Given the description of an element on the screen output the (x, y) to click on. 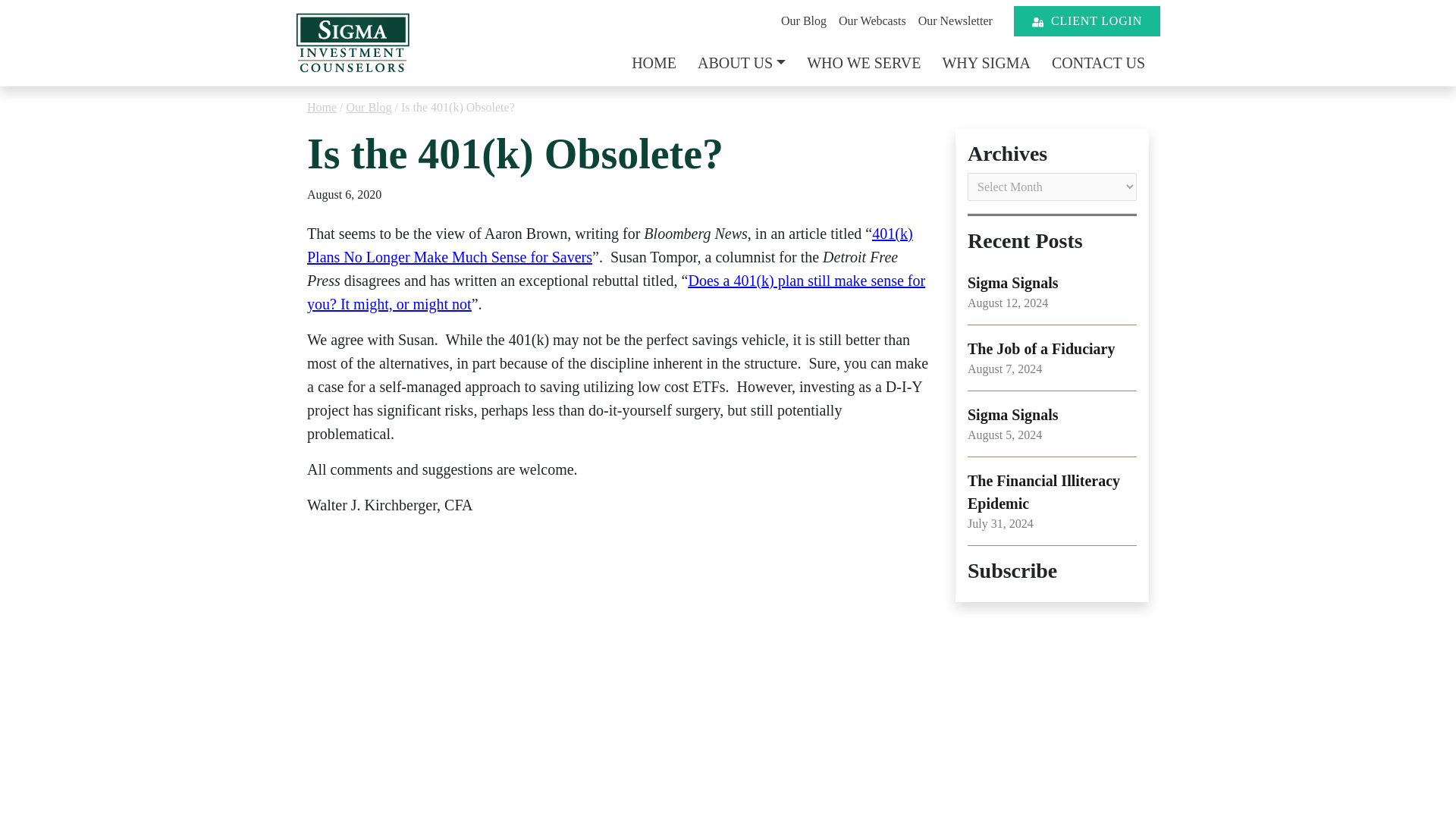
The Job of a Fiduciary (1041, 348)
WHY SIGMA (985, 62)
HOME (654, 62)
Our Webcasts (872, 20)
WHO WE SERVE (863, 62)
  CLIENT LOGIN (1086, 20)
Form CRS (893, 20)
Home (955, 20)
The Financial Illiteracy Epidemic (654, 62)
